Given the description of an element on the screen output the (x, y) to click on. 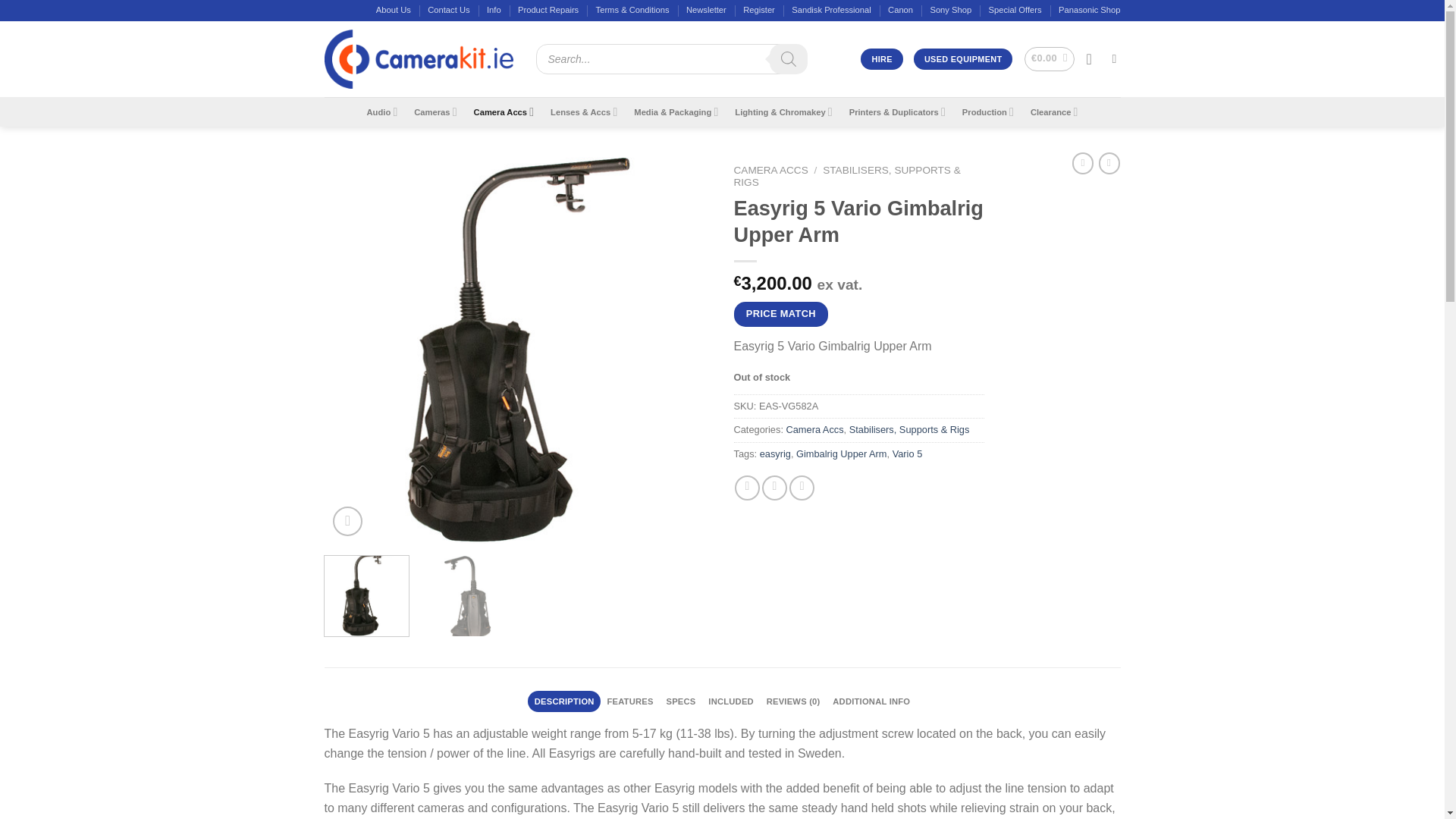
Sandisk Professional (831, 10)
HIRE (881, 58)
Share on Facebook (747, 487)
About Us (392, 10)
Cameras (435, 111)
Cart (1049, 58)
Camera Accs (504, 111)
Price match, contact us today for more information (780, 314)
Product Repairs (548, 10)
Contact Us (448, 10)
Register (758, 10)
Zoom (347, 521)
Special Offers (1015, 10)
Share on Twitter (774, 487)
USED EQUIPMENT (963, 58)
